Given the description of an element on the screen output the (x, y) to click on. 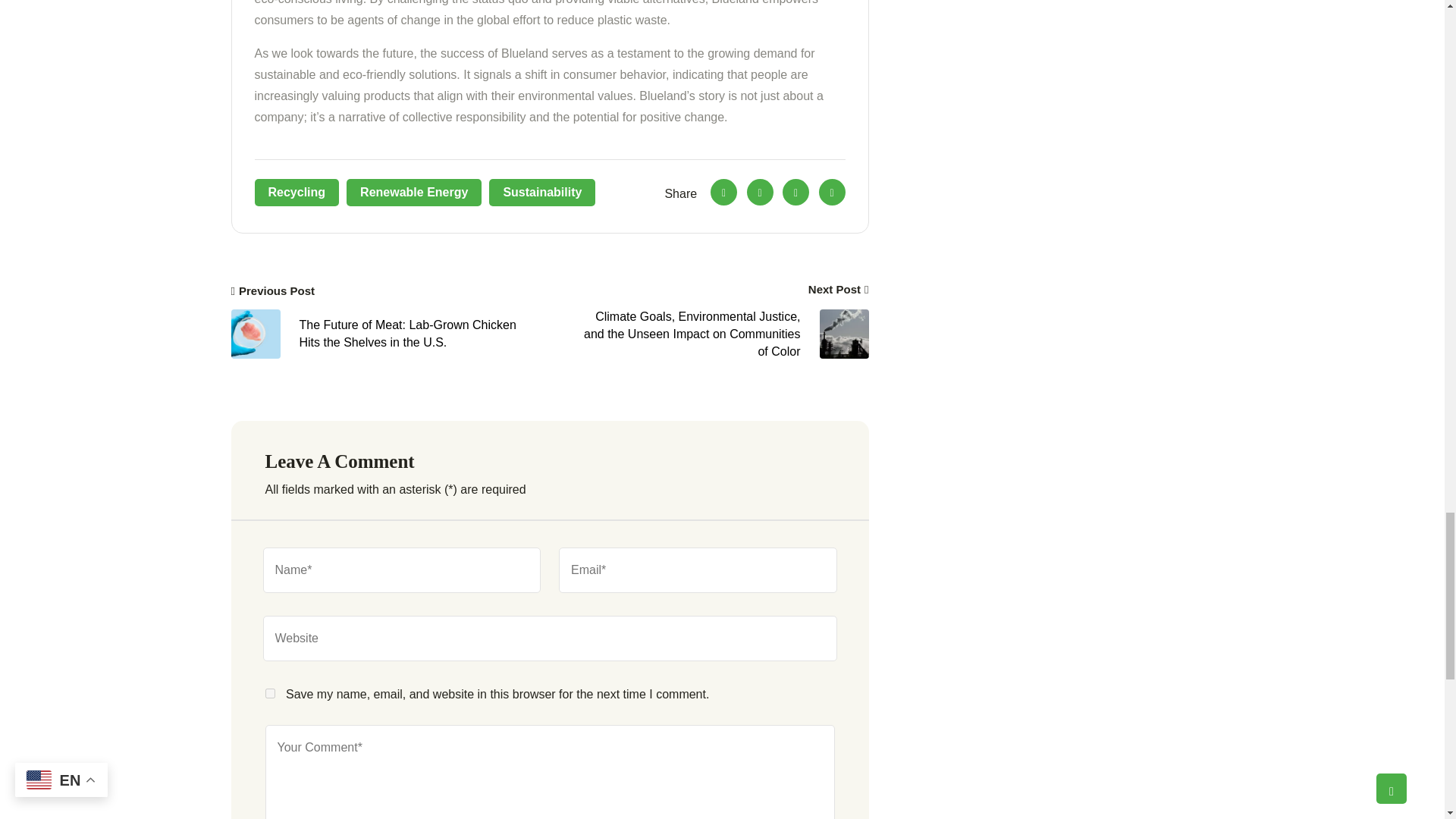
yes (269, 693)
Sustainability (542, 192)
Previous Post (272, 291)
Next Post (838, 289)
Recycling (296, 192)
Renewable Energy (413, 192)
